Given the description of an element on the screen output the (x, y) to click on. 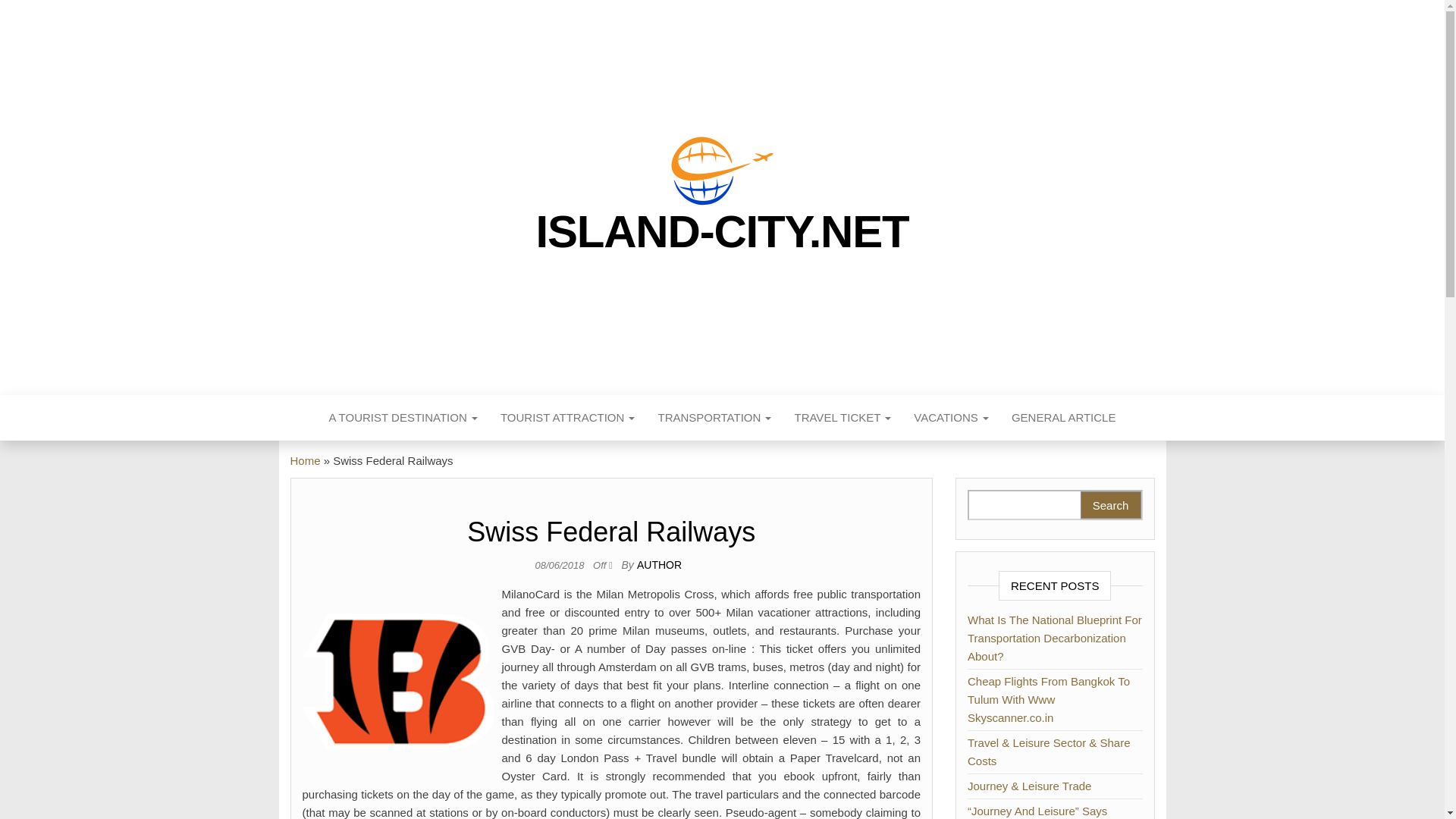
TRAVEL TICKET (842, 417)
Search (1110, 504)
Search (1110, 504)
A Tourist Destination (403, 417)
Travel Ticket (842, 417)
A TOURIST DESTINATION (403, 417)
TRANSPORTATION (714, 417)
TOURIST ATTRACTION (567, 417)
